Given the description of an element on the screen output the (x, y) to click on. 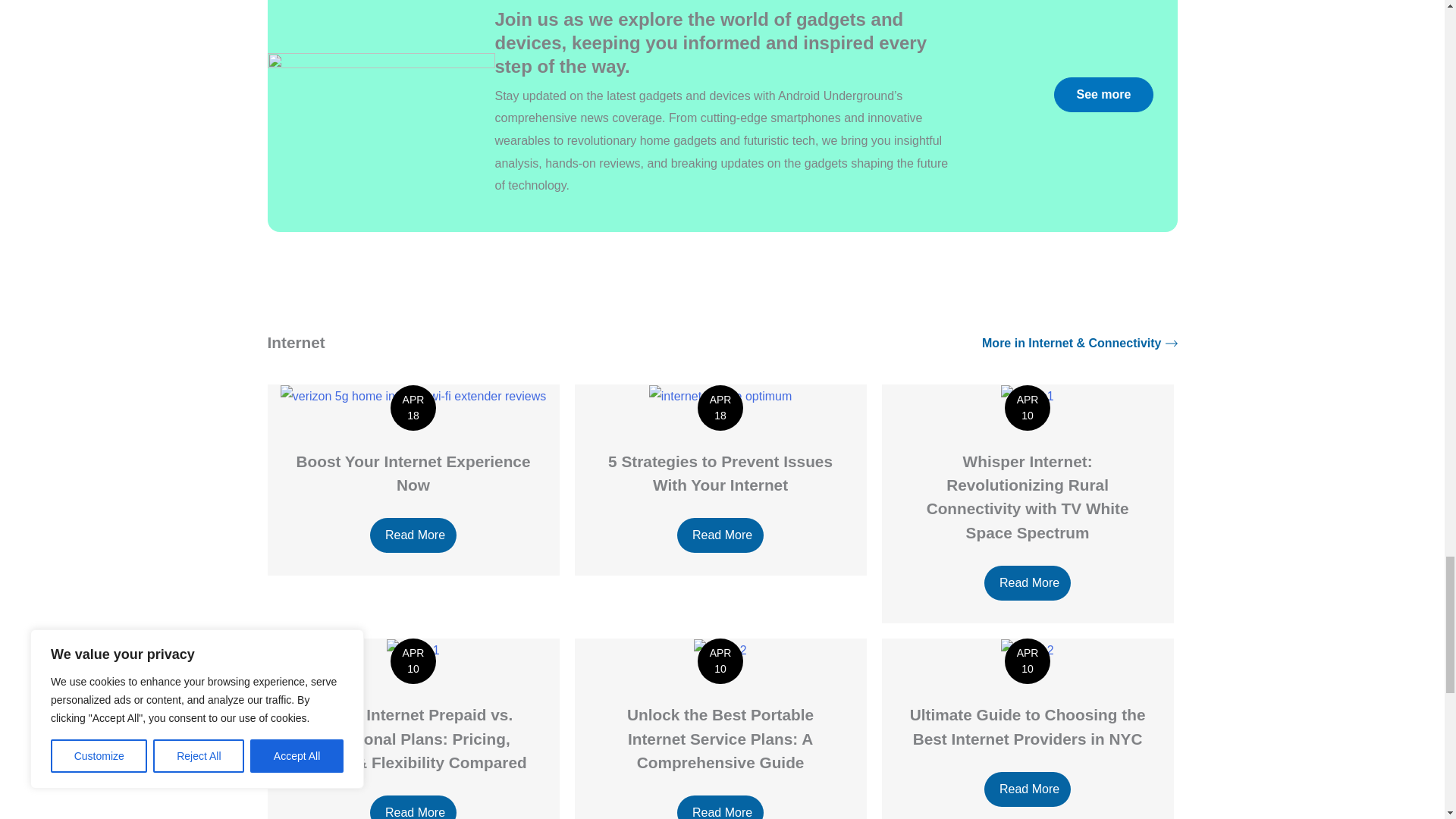
Boost Your Internet Experience Now (413, 395)
5 Strategies to Prevent Issues With Your Internet (720, 395)
